Given the description of an element on the screen output the (x, y) to click on. 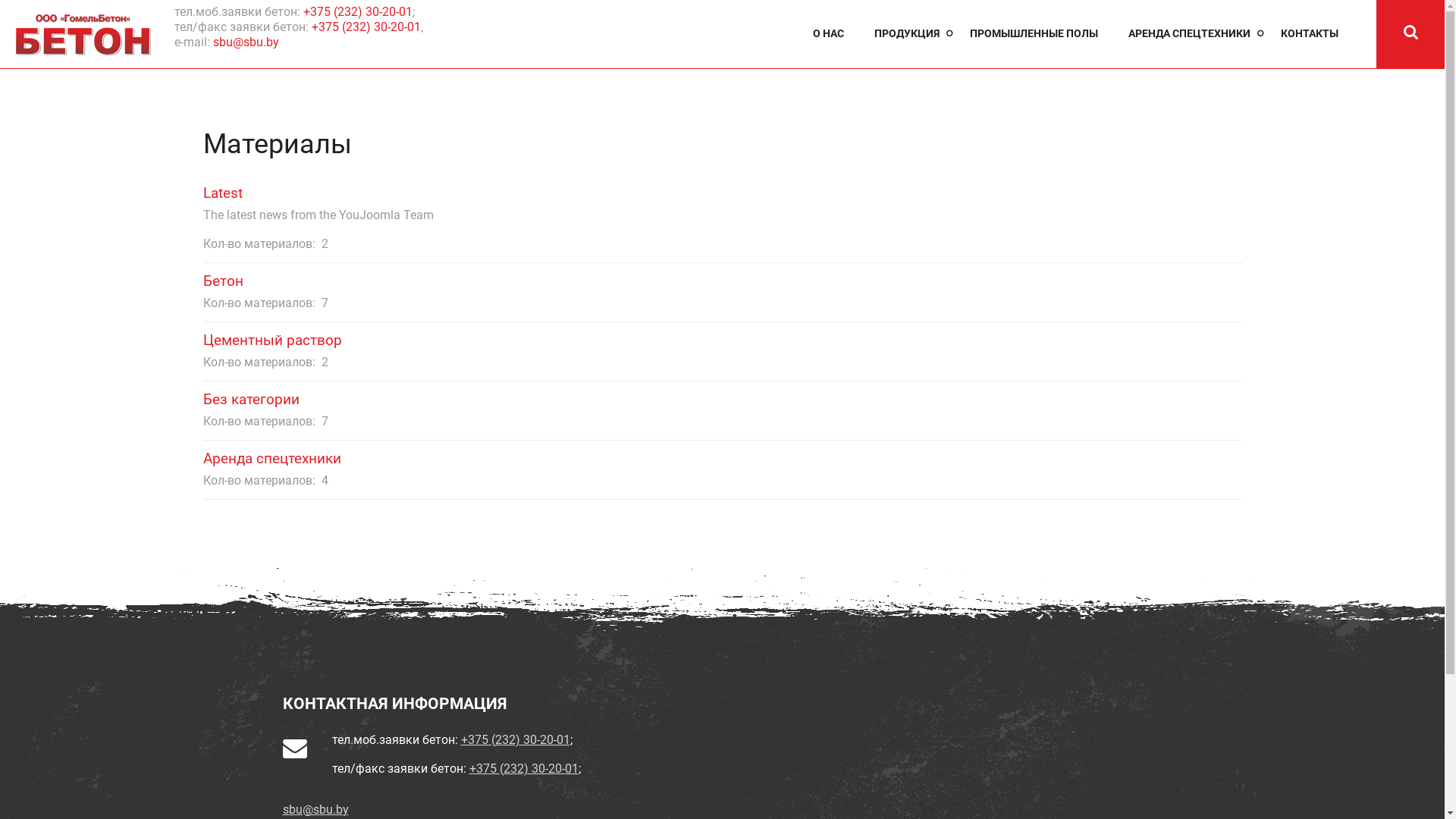
+375 (232) 30-20-01 Element type: text (365, 26)
Latest Element type: text (222, 192)
+375 (232) 30-20-01 Element type: text (515, 739)
+375 (232) 30-20-01 Element type: text (522, 768)
sbu@sbu.by Element type: text (246, 41)
+375 (232) 30-20-01 Element type: text (357, 11)
sbu@sbu.by Element type: text (315, 809)
